Given the description of an element on the screen output the (x, y) to click on. 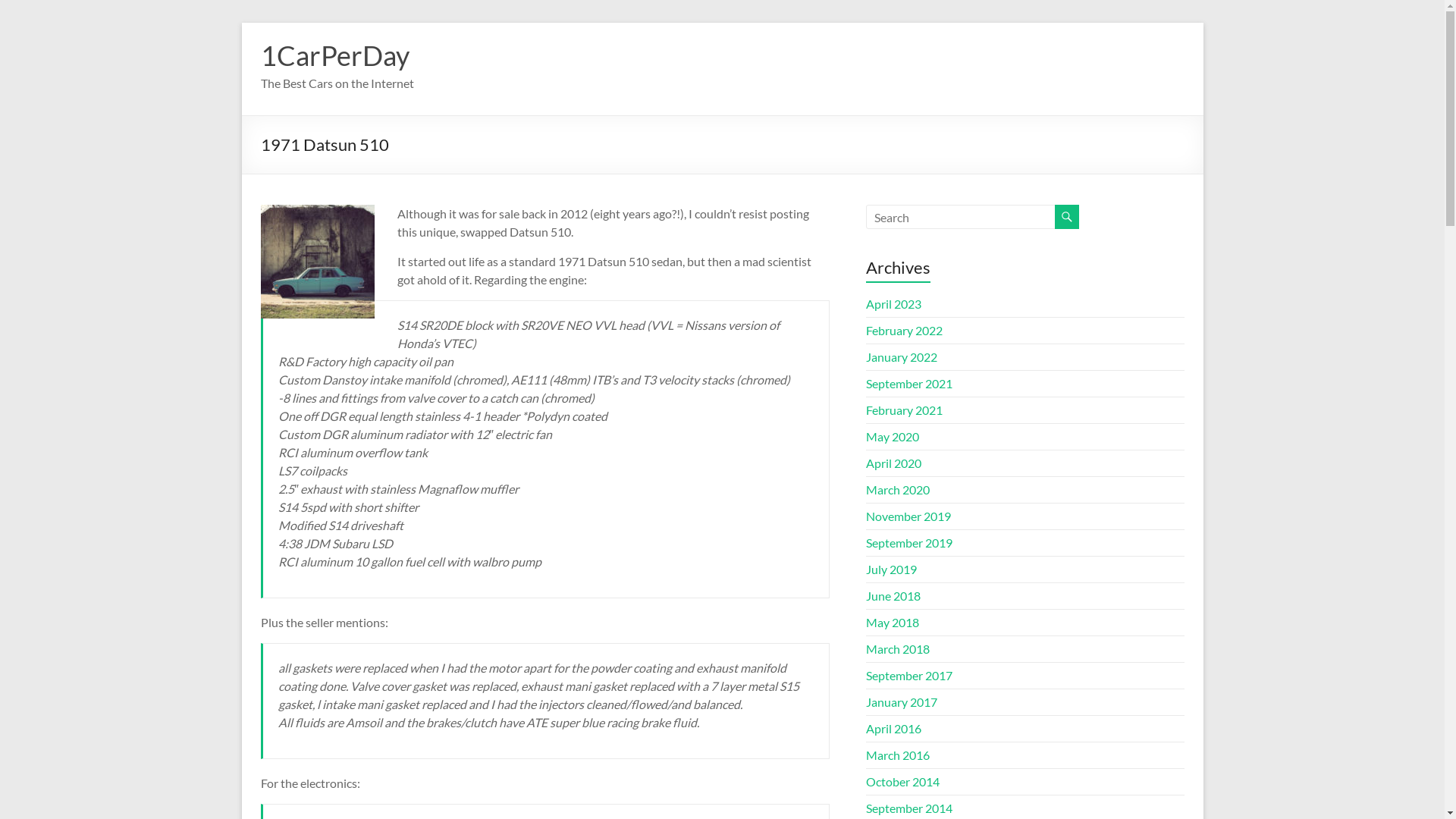
Skip to content Element type: text (241, 21)
September 2021 Element type: text (909, 383)
November 2019 Element type: text (908, 515)
September 2019 Element type: text (909, 542)
January 2017 Element type: text (901, 701)
May 2018 Element type: text (892, 622)
February 2022 Element type: text (904, 330)
May 2020 Element type: text (892, 436)
March 2020 Element type: text (897, 489)
April 2016 Element type: text (893, 728)
October 2014 Element type: text (902, 781)
March 2016 Element type: text (897, 754)
March 2018 Element type: text (897, 648)
February 2021 Element type: text (904, 409)
1CarPerDay Element type: text (334, 55)
April 2020 Element type: text (893, 462)
September 2014 Element type: text (909, 807)
June 2018 Element type: text (893, 595)
April 2023 Element type: text (893, 303)
January 2022 Element type: text (901, 356)
July 2019 Element type: text (891, 568)
September 2017 Element type: text (909, 675)
